Given the description of an element on the screen output the (x, y) to click on. 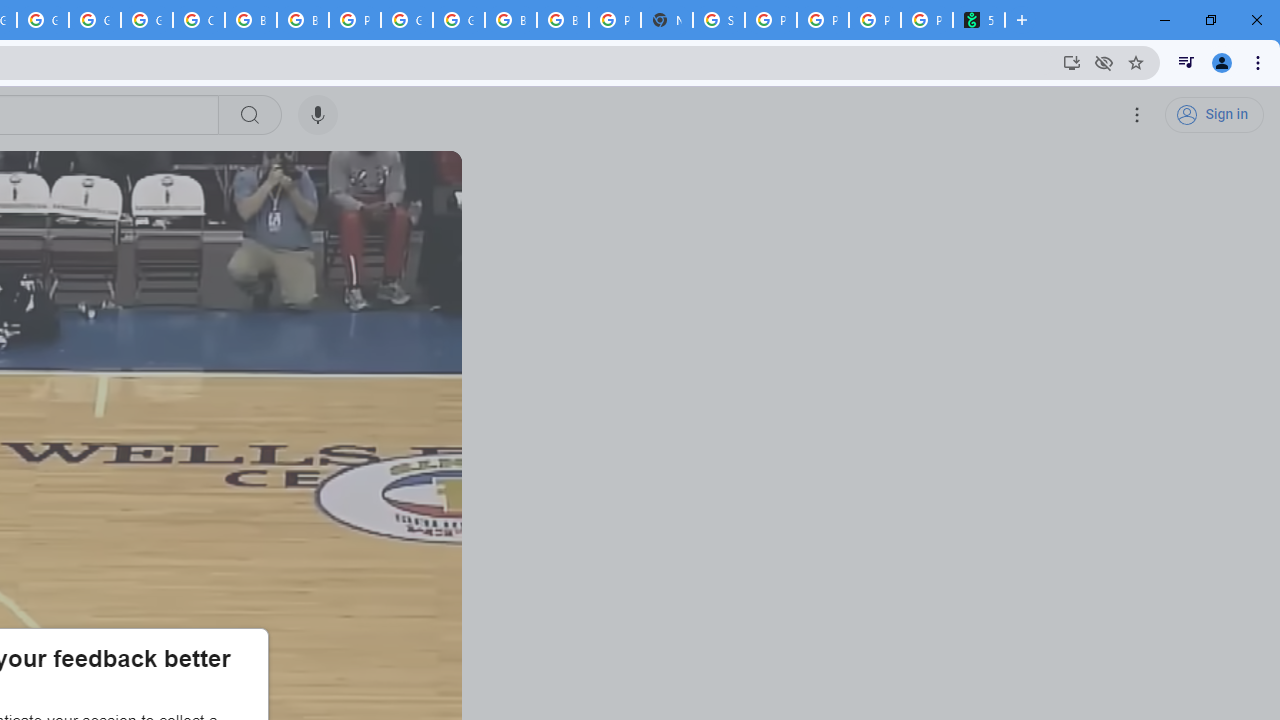
Privacy Checkup (874, 20)
Search with your voice (317, 115)
New Tab (666, 20)
Browse Chrome as a guest - Computer - Google Chrome Help (511, 20)
